Given the description of an element on the screen output the (x, y) to click on. 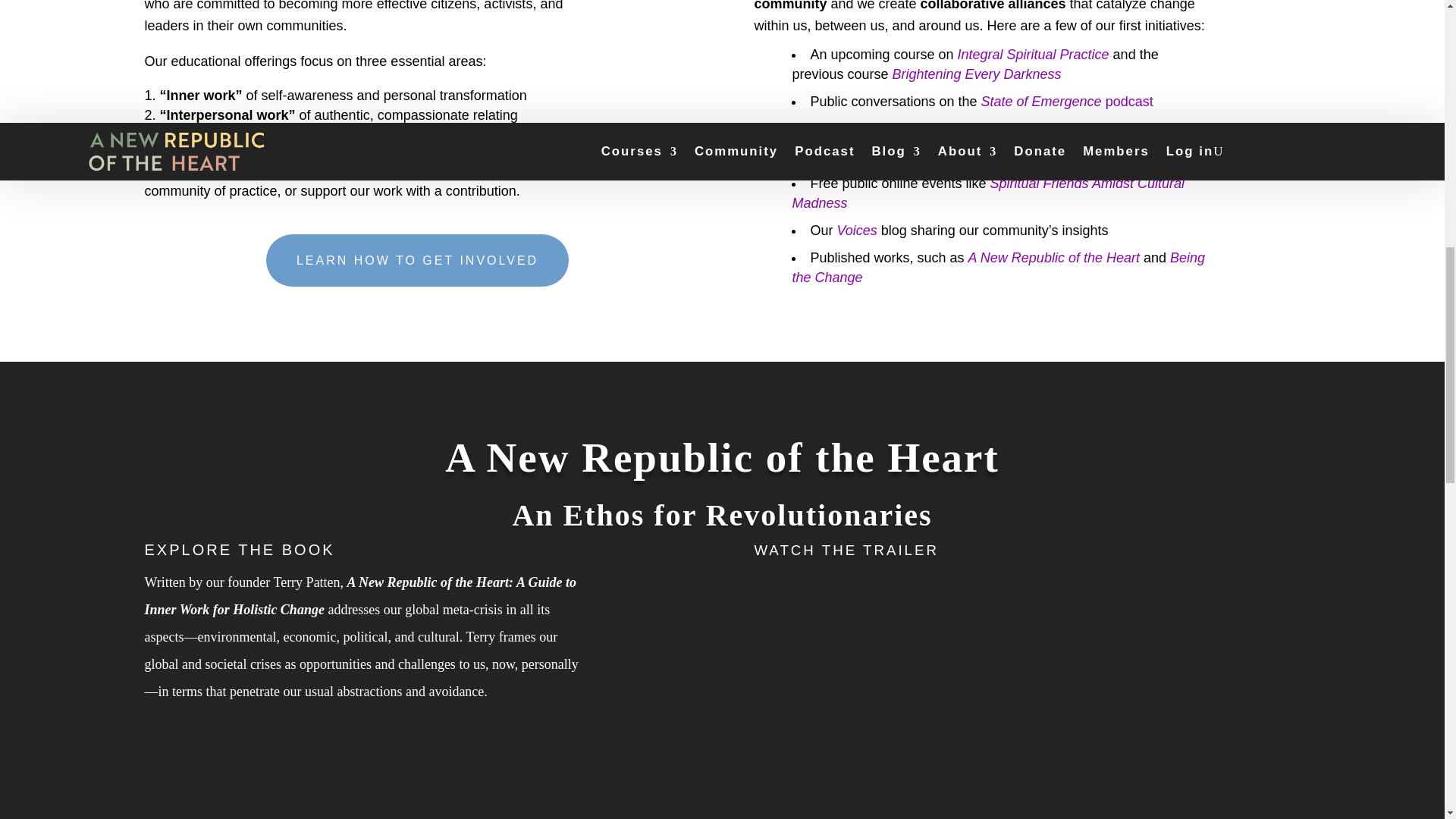
A New Republic of the Heart (1053, 257)
Community of Practice (944, 128)
Spiritual Friends Amidst Cultural Madness (988, 193)
Integral Spiritual Practice (1033, 54)
Purpose Earth  (1102, 155)
State of Emergence podcast (1067, 101)
Being the Change (998, 267)
Voices (855, 230)
LEARN HOW TO GET INVOLVED (417, 260)
Brightening Every Darkness (976, 73)
